Given the description of an element on the screen output the (x, y) to click on. 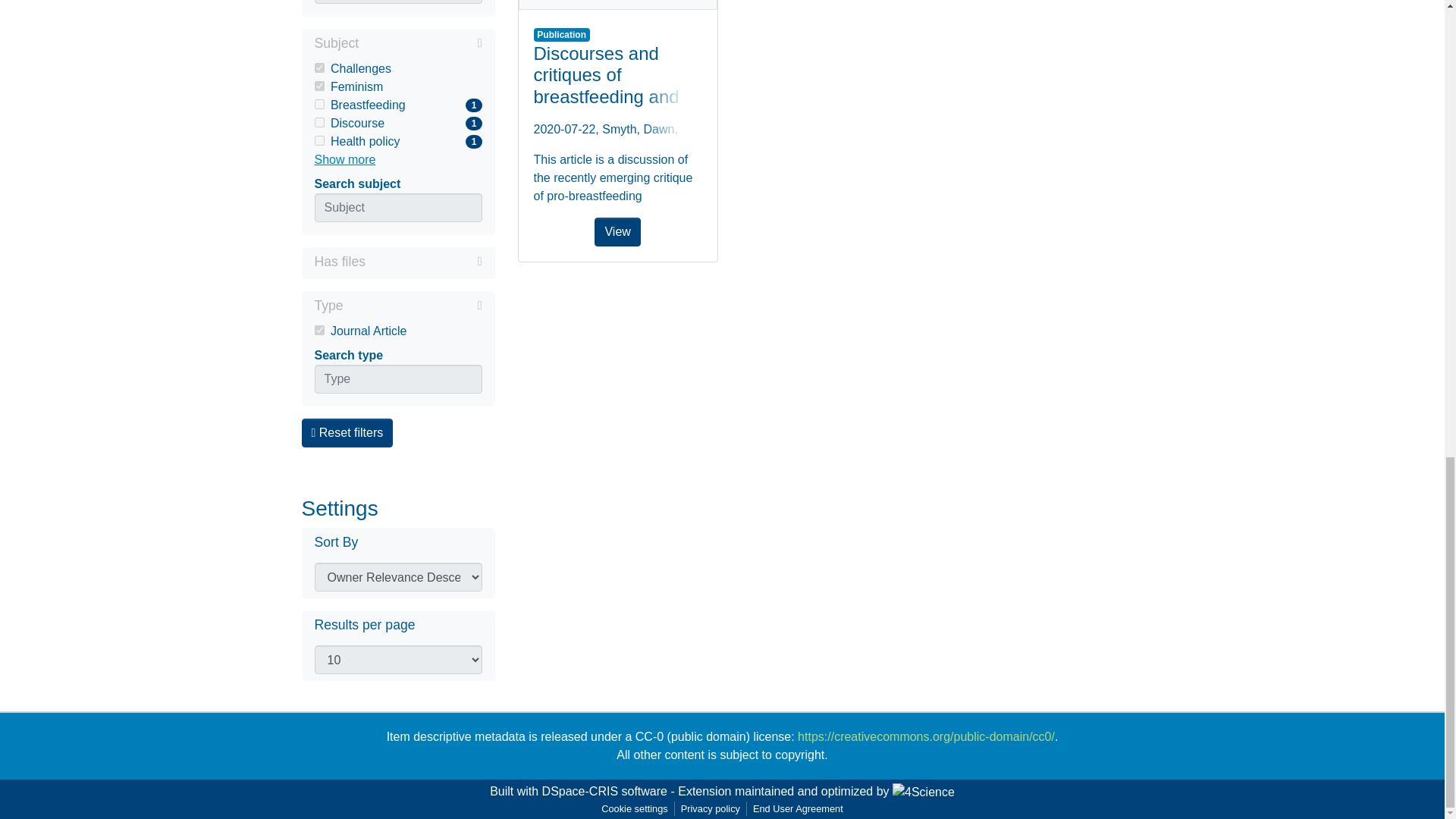
on (318, 67)
on (318, 140)
Subject (397, 105)
View (397, 45)
Expand filter (397, 141)
on (617, 4)
Feminism (423, 261)
Challenges (318, 122)
Collapse filter (397, 86)
on (397, 68)
on (397, 123)
Collapse filter (419, 43)
